Given the description of an element on the screen output the (x, y) to click on. 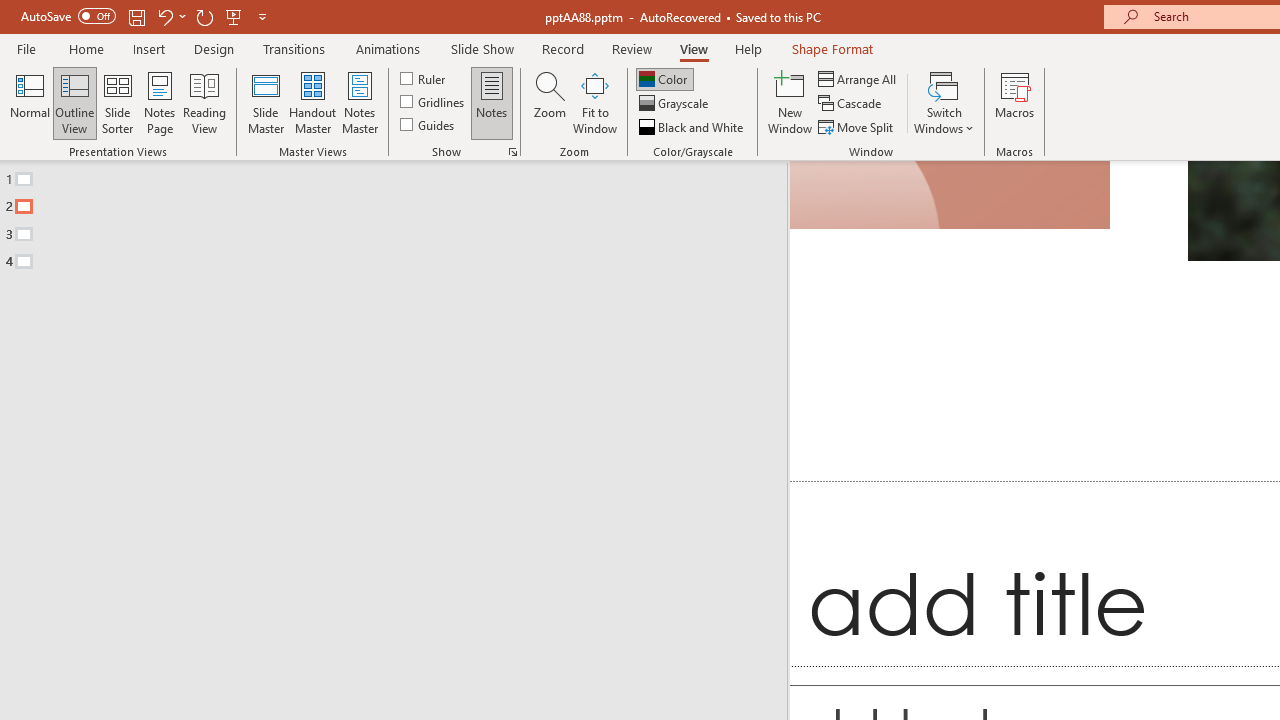
Notes Page (159, 102)
New Window (790, 102)
Move Split (857, 126)
Grid Settings... (512, 151)
Black and White (693, 126)
Cascade (851, 103)
